Given the description of an element on the screen output the (x, y) to click on. 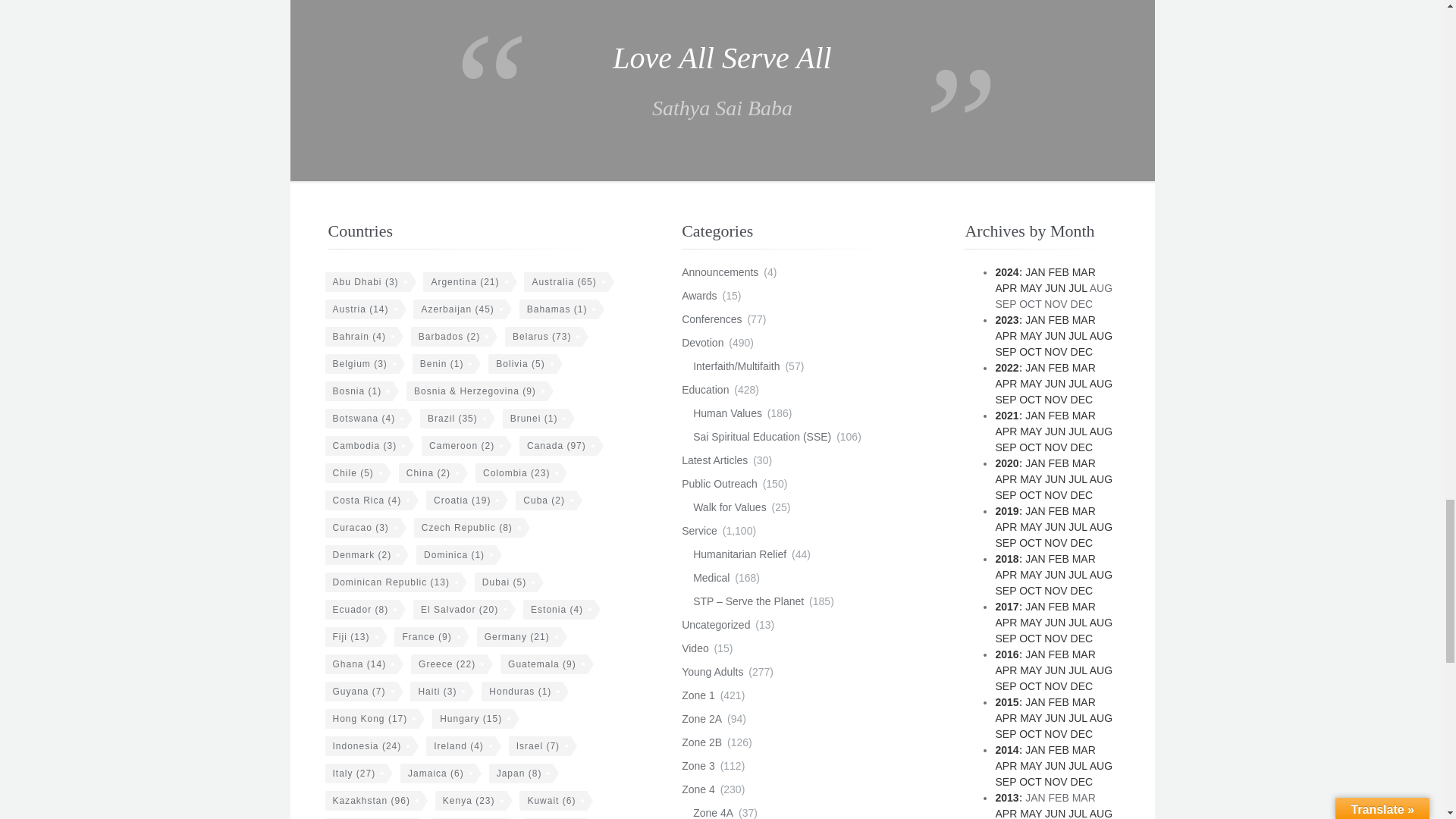
Awards given to the Sai Organisation (698, 295)
Newly added reports. (714, 460)
